Given the description of an element on the screen output the (x, y) to click on. 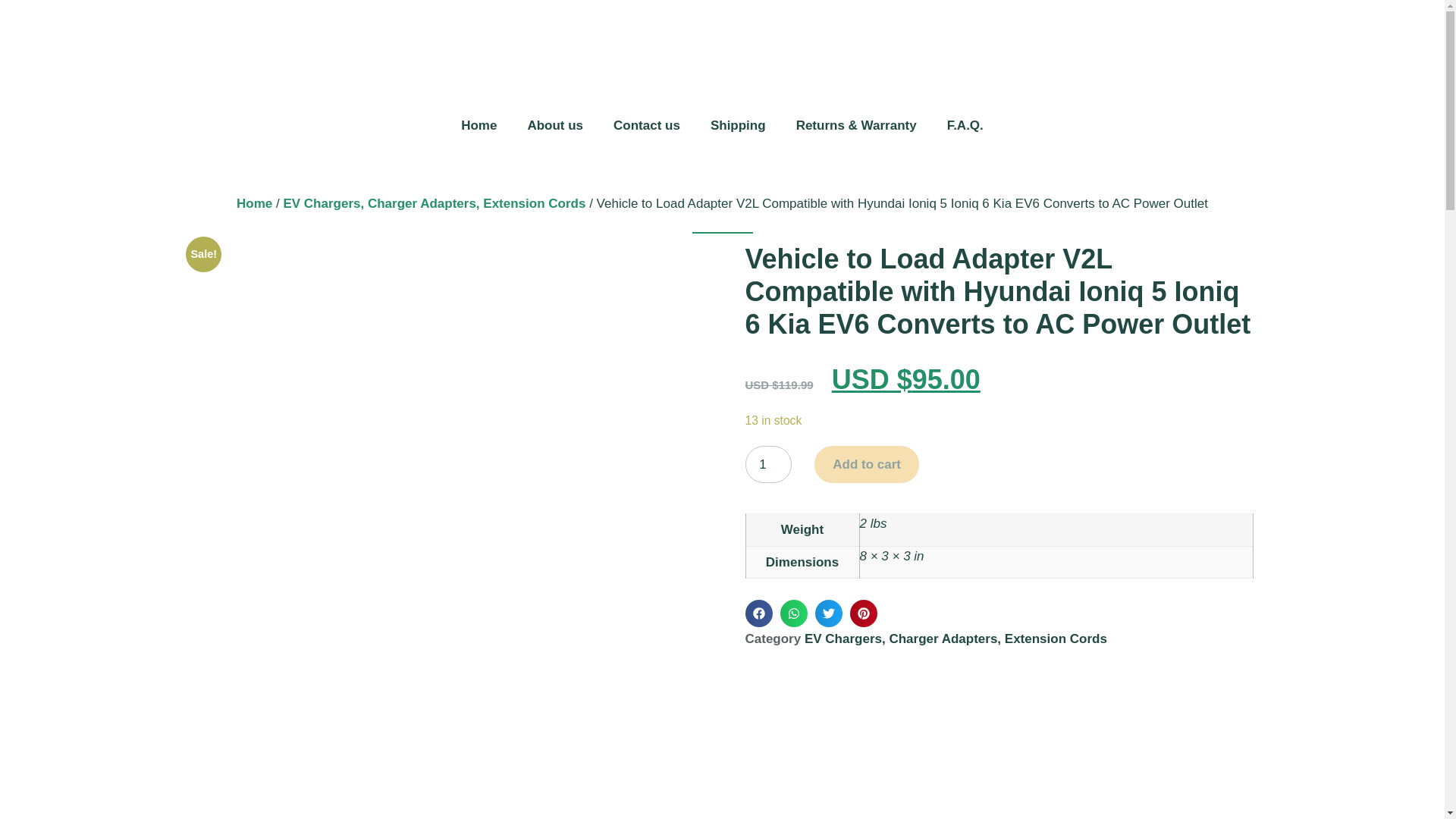
Home (478, 125)
Home (253, 203)
Add to cart (865, 464)
About us (555, 125)
EV Chargers, Charger Adapters, Extension Cords (955, 638)
1 (768, 464)
F.A.Q. (965, 125)
Contact us (645, 125)
EV Chargers, Charger Adapters, Extension Cords (433, 203)
Shipping (737, 125)
